Given the description of an element on the screen output the (x, y) to click on. 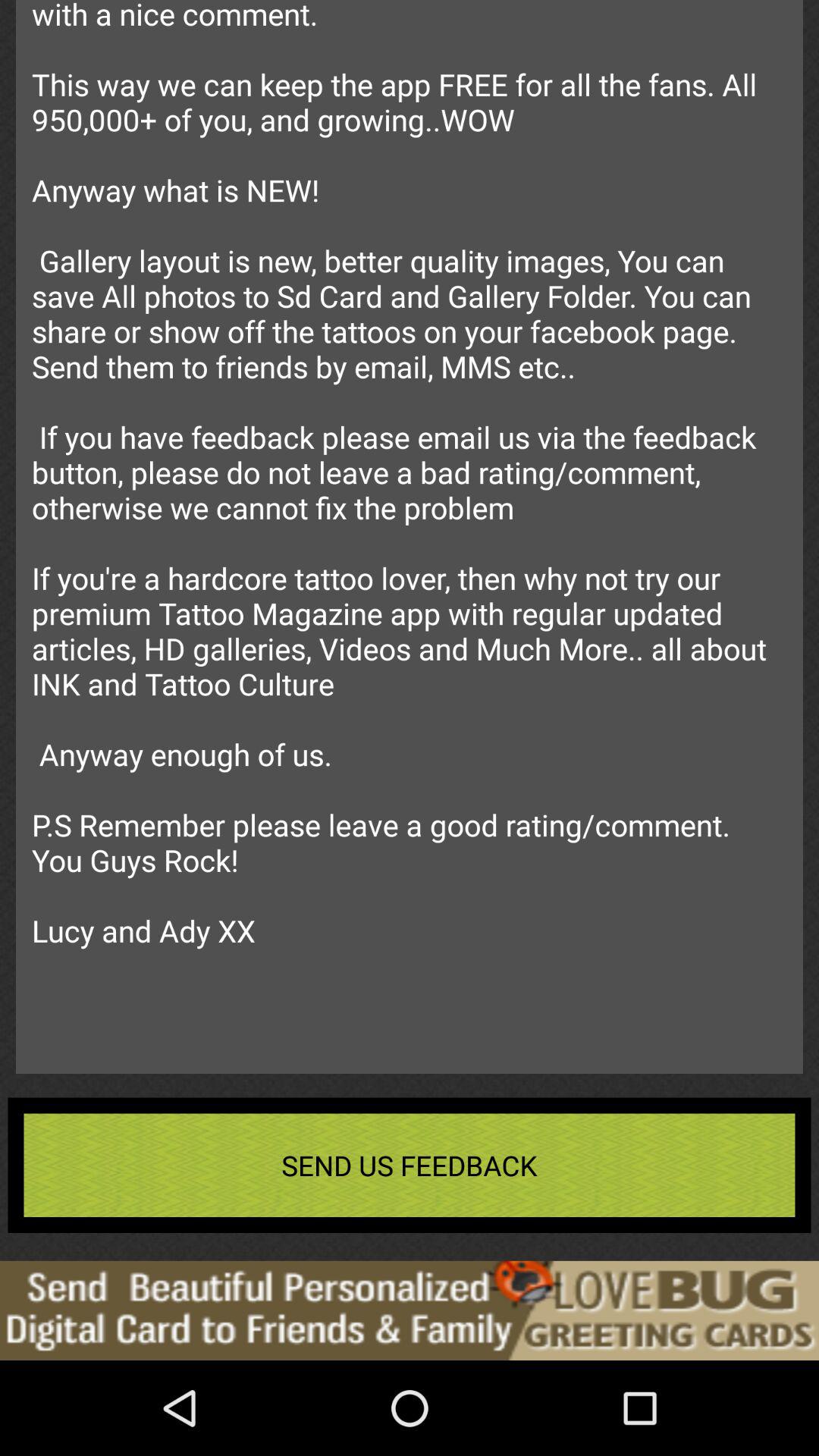
view advertisement (409, 1310)
